Given the description of an element on the screen output the (x, y) to click on. 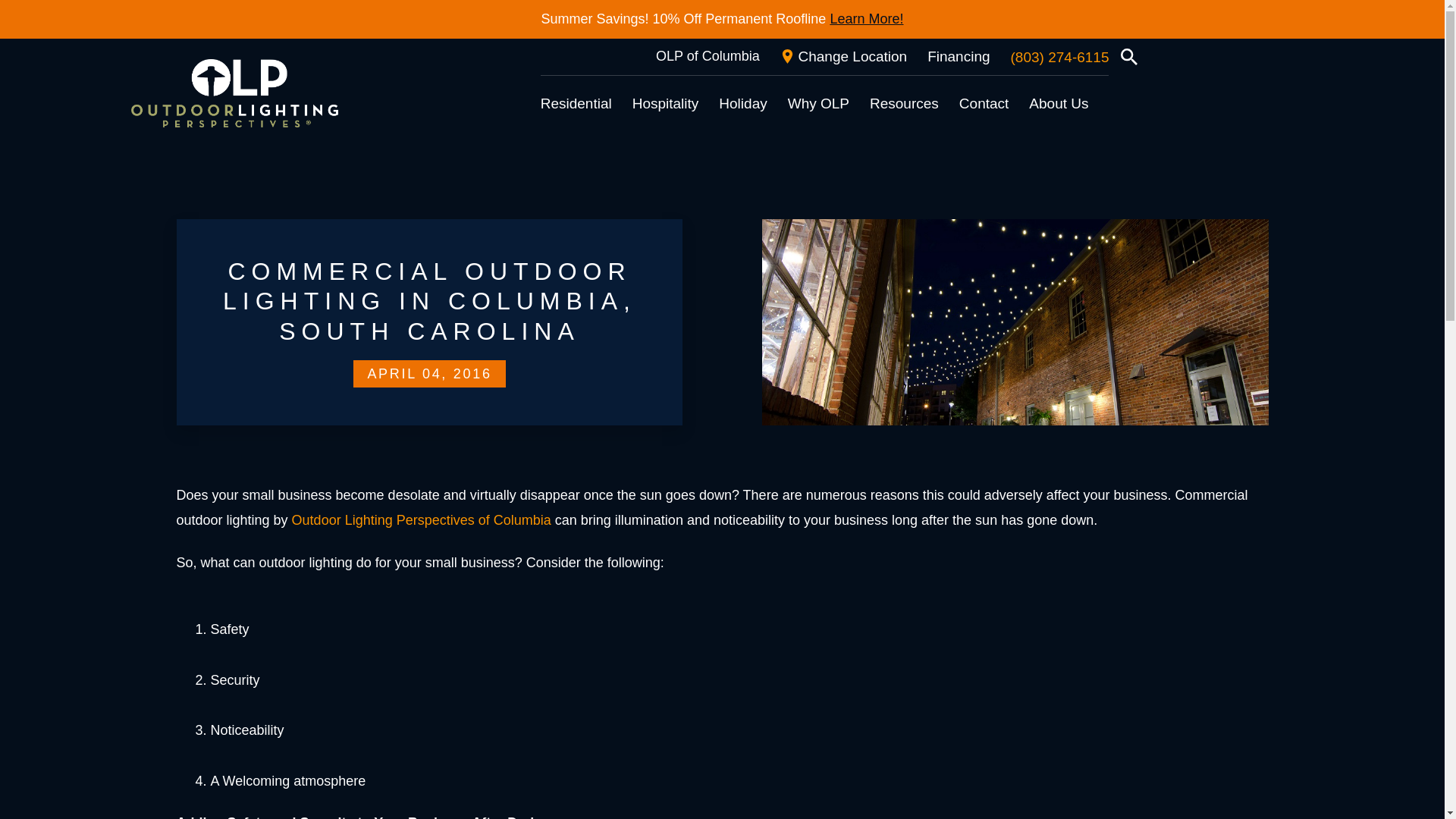
Outdoor Lighting Perspectives (234, 92)
Hospitality (664, 103)
Learn More! (865, 18)
Residential (575, 103)
Financing (958, 56)
Change Location (843, 56)
